Given the description of an element on the screen output the (x, y) to click on. 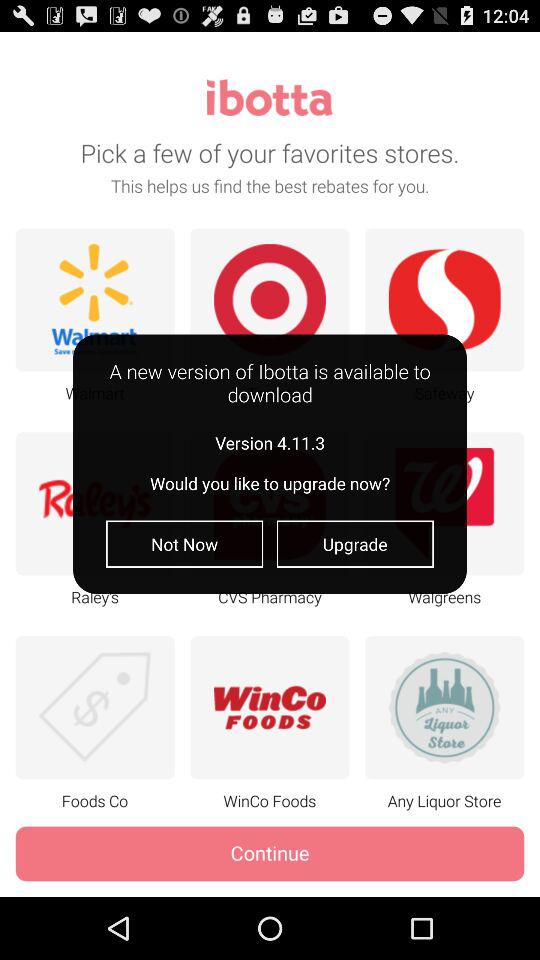
tap the icon below version 4 11 (184, 543)
